Given the description of an element on the screen output the (x, y) to click on. 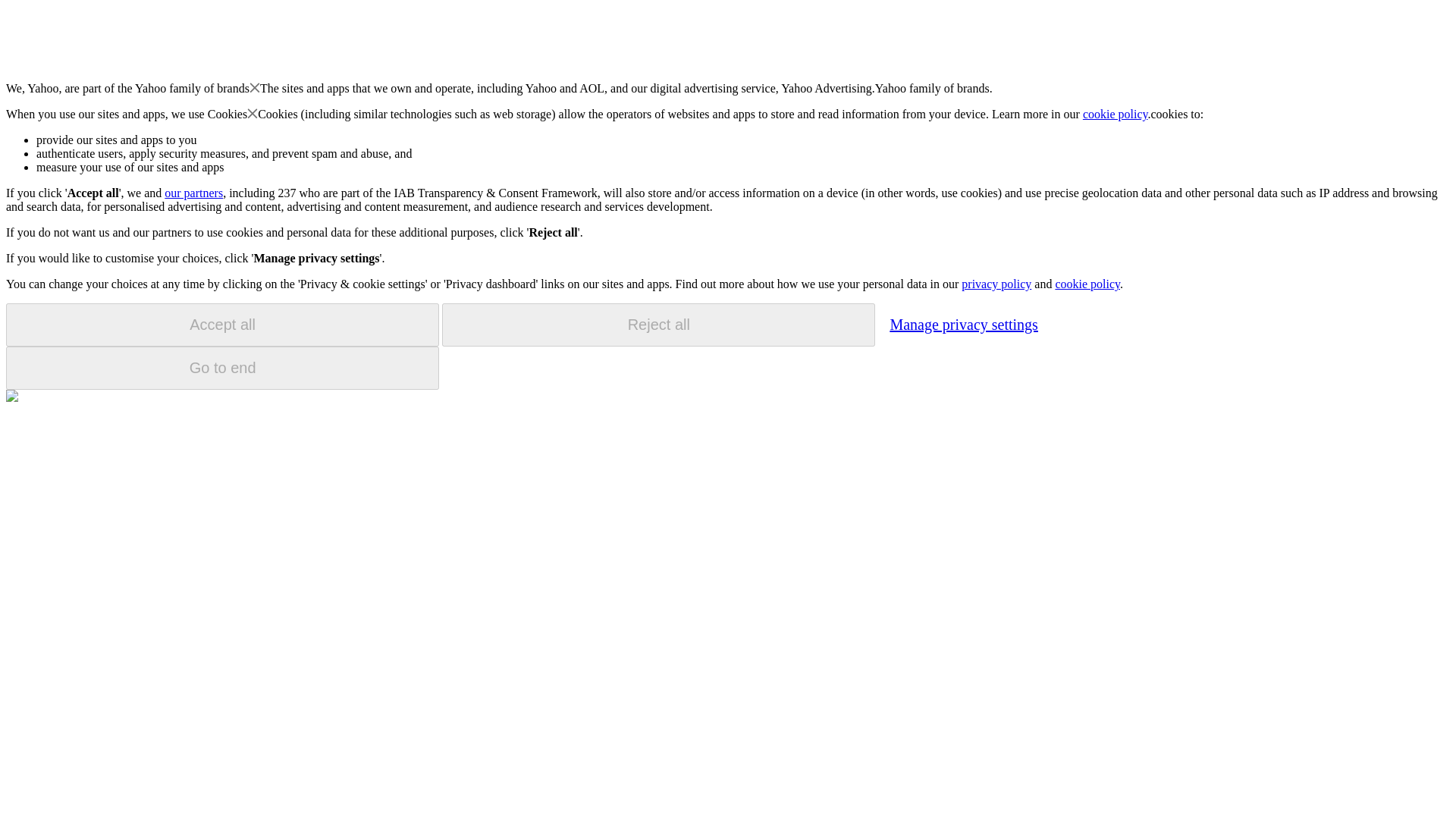
Manage privacy settings (963, 323)
privacy policy (995, 283)
our partners (193, 192)
Accept all (222, 324)
cookie policy (1086, 283)
cookie policy (1115, 113)
Reject all (658, 324)
Go to end (222, 367)
